Given the description of an element on the screen output the (x, y) to click on. 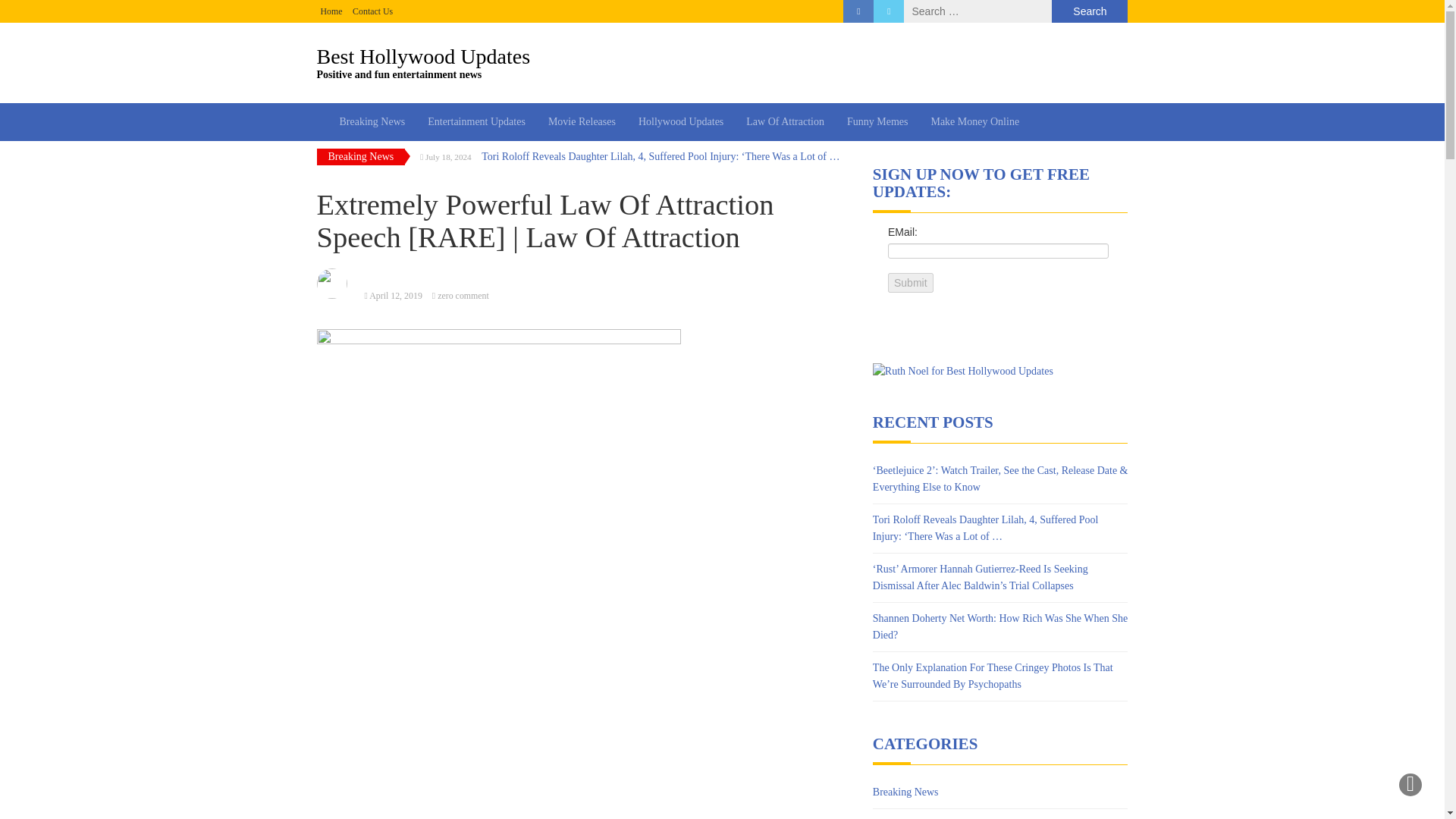
Search (1088, 11)
Entertainment Updates (476, 121)
Contact Us (372, 10)
Make Money Online (722, 62)
Entertainment Updates (974, 121)
Home (476, 121)
Hollywood Updates (331, 10)
Home (681, 121)
April 12, 2019 (331, 10)
zero comment (395, 295)
Movie Releases (463, 295)
Shannen Doherty Net Worth: How Rich Was She When She Died? (582, 121)
Breaking News (999, 626)
Movie Releases (905, 791)
